Given the description of an element on the screen output the (x, y) to click on. 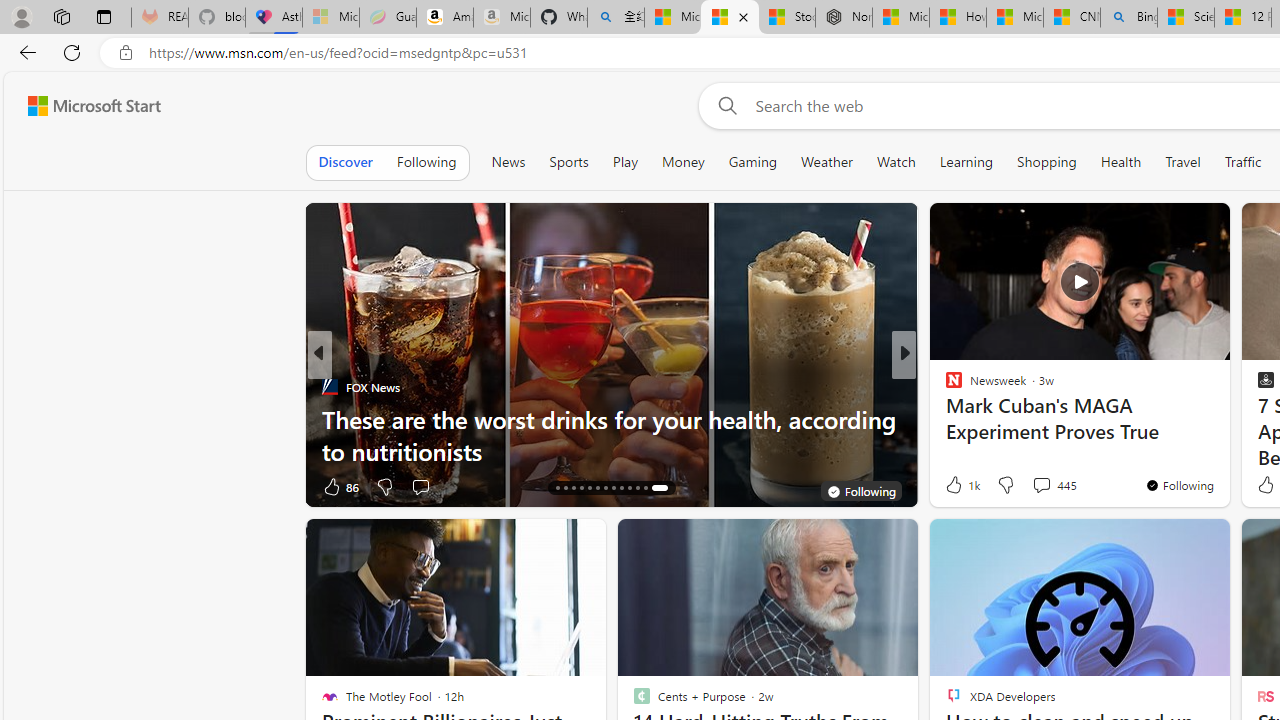
FOX News (329, 386)
Shopping (1046, 162)
Asthma Inhalers: Names and Types (273, 17)
Bing (1128, 17)
AutomationID: tab-24 (637, 487)
12 Popular Science Lies that Must be Corrected (1242, 17)
